Given the description of an element on the screen output the (x, y) to click on. 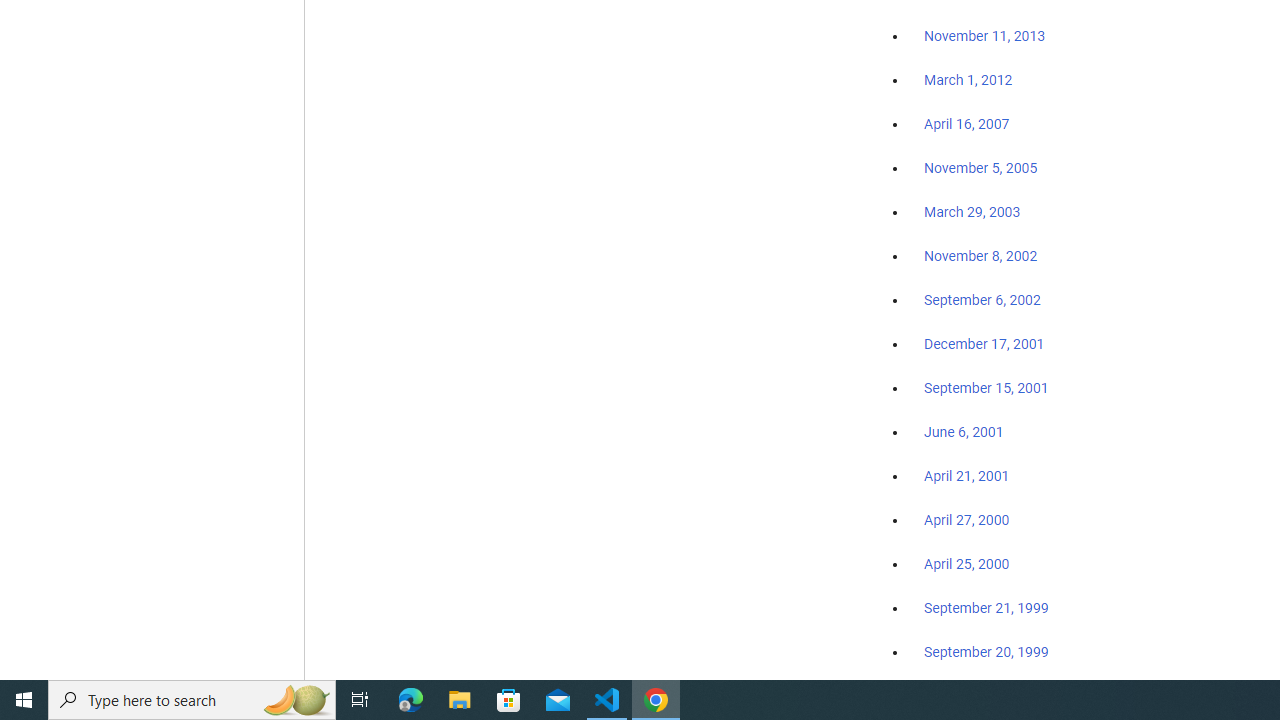
June 6, 2001 (963, 431)
April 27, 2000 (966, 520)
April 16, 2007 (966, 124)
December 17, 2001 (984, 343)
September 15, 2001 (986, 387)
September 6, 2002 (982, 299)
April 21, 2001 (966, 476)
November 5, 2005 (981, 168)
September 20, 1999 (986, 651)
September 21, 1999 (986, 608)
March 1, 2012 (968, 81)
November 8, 2002 (981, 255)
March 29, 2003 (972, 212)
November 11, 2013 (984, 37)
April 25, 2000 (966, 564)
